Given the description of an element on the screen output the (x, y) to click on. 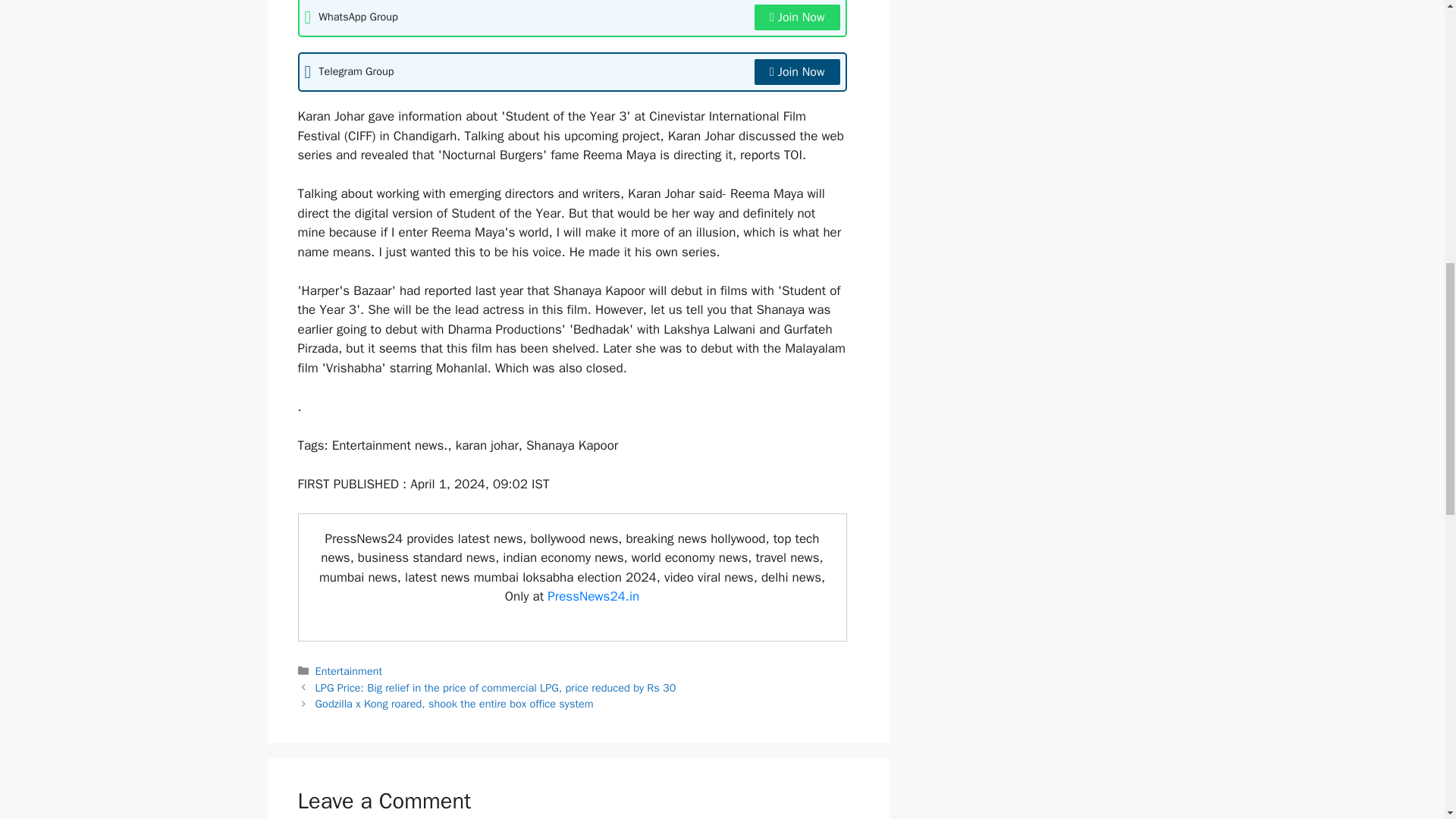
Godzilla x Kong roared, shook the entire box office system (454, 703)
Entertainment (348, 671)
Join Now (797, 71)
PressNews24.in (593, 596)
Join Now (797, 17)
